Given the description of an element on the screen output the (x, y) to click on. 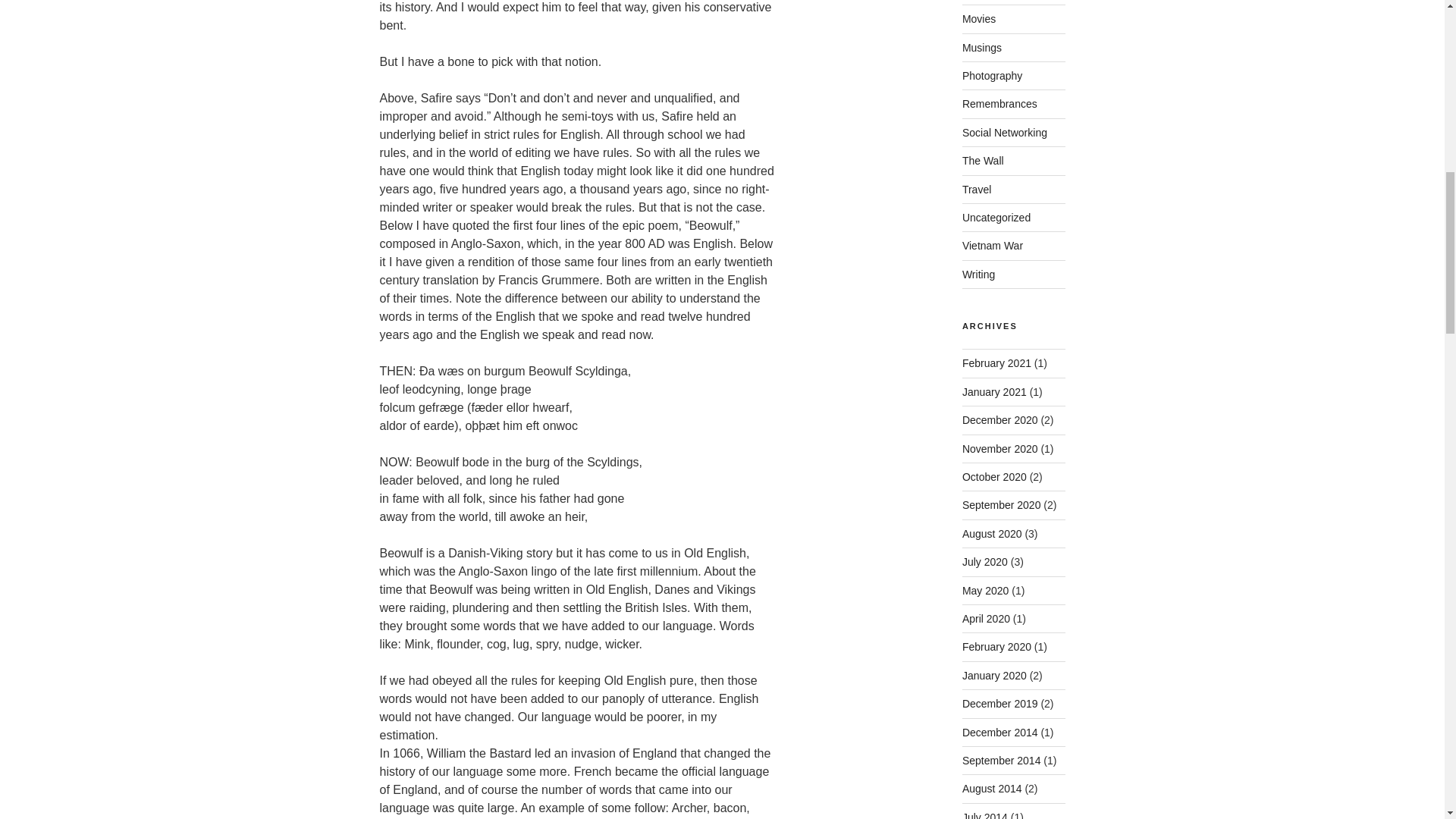
October 2020 (994, 476)
February 2020 (996, 646)
August 2020 (992, 533)
Musings (981, 47)
January 2021 (994, 391)
Travel (976, 189)
Social Networking (1004, 132)
September 2020 (1001, 504)
February 2021 (996, 363)
Writing (978, 274)
May 2020 (985, 590)
Vietnam War (992, 245)
November 2020 (1000, 449)
Movies (978, 19)
Photography (992, 75)
